Given the description of an element on the screen output the (x, y) to click on. 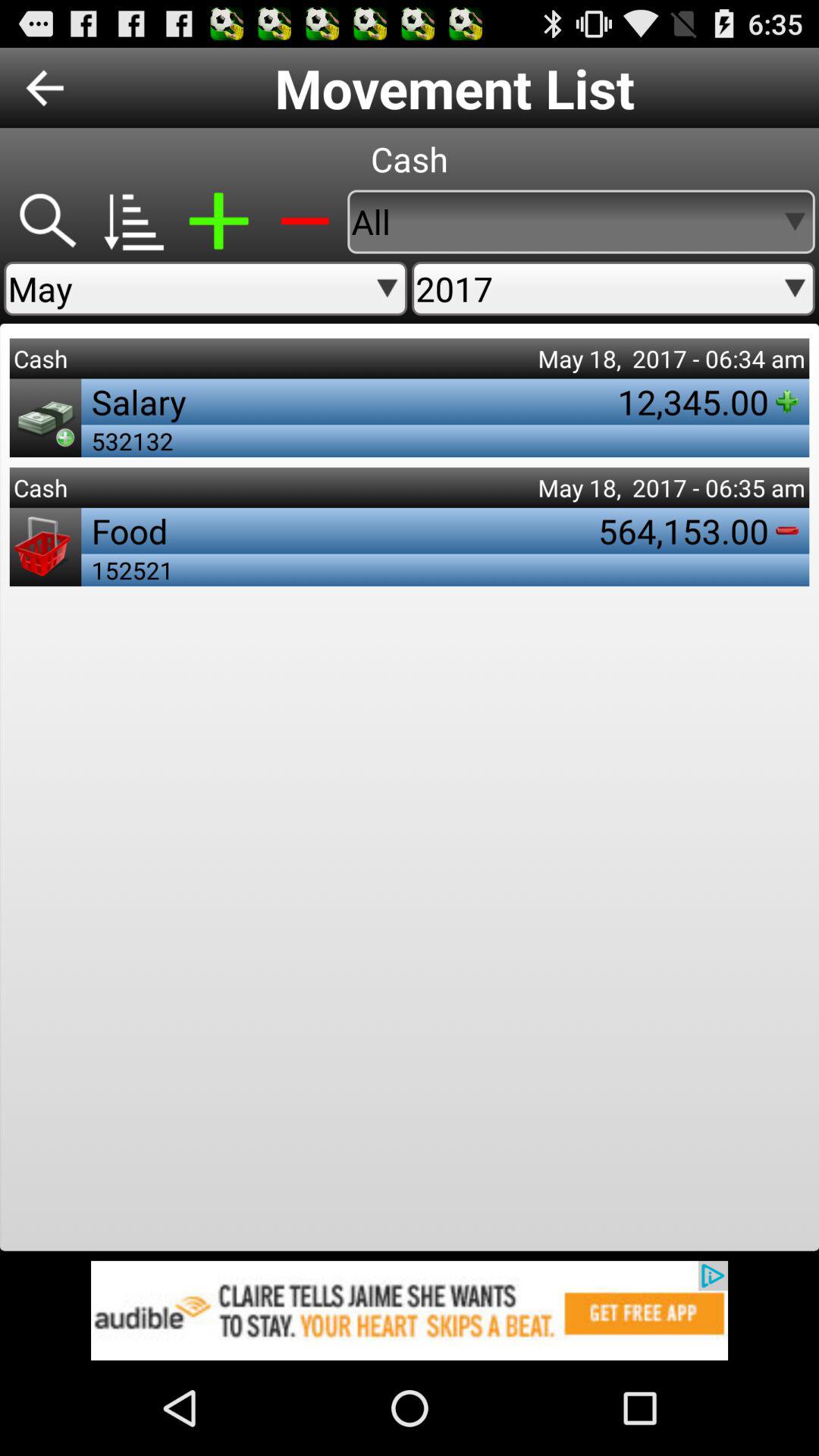
return to previous screen (44, 87)
